Given the description of an element on the screen output the (x, y) to click on. 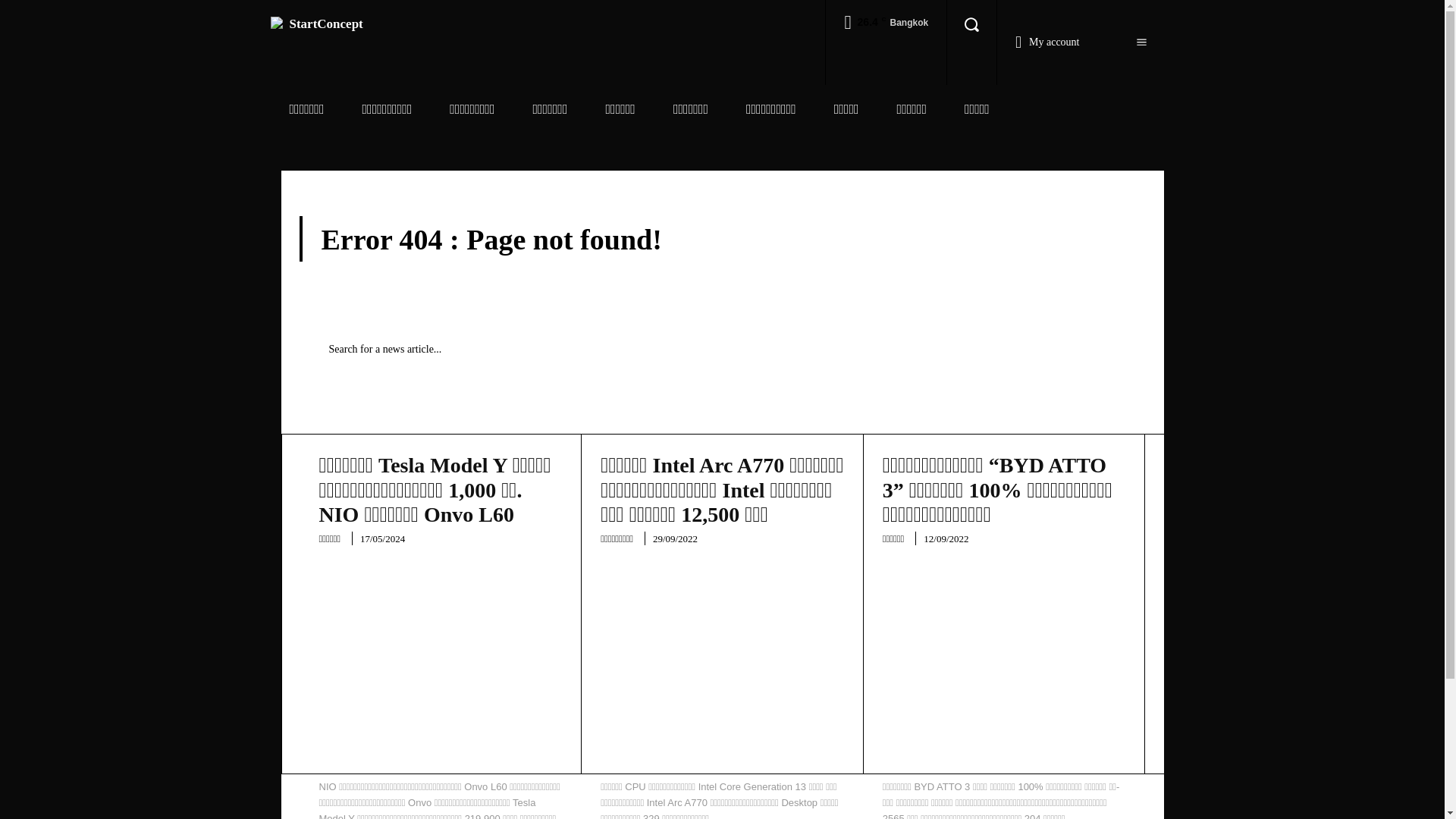
StartConcept (315, 24)
SEARCH (1092, 349)
